Given the description of an element on the screen output the (x, y) to click on. 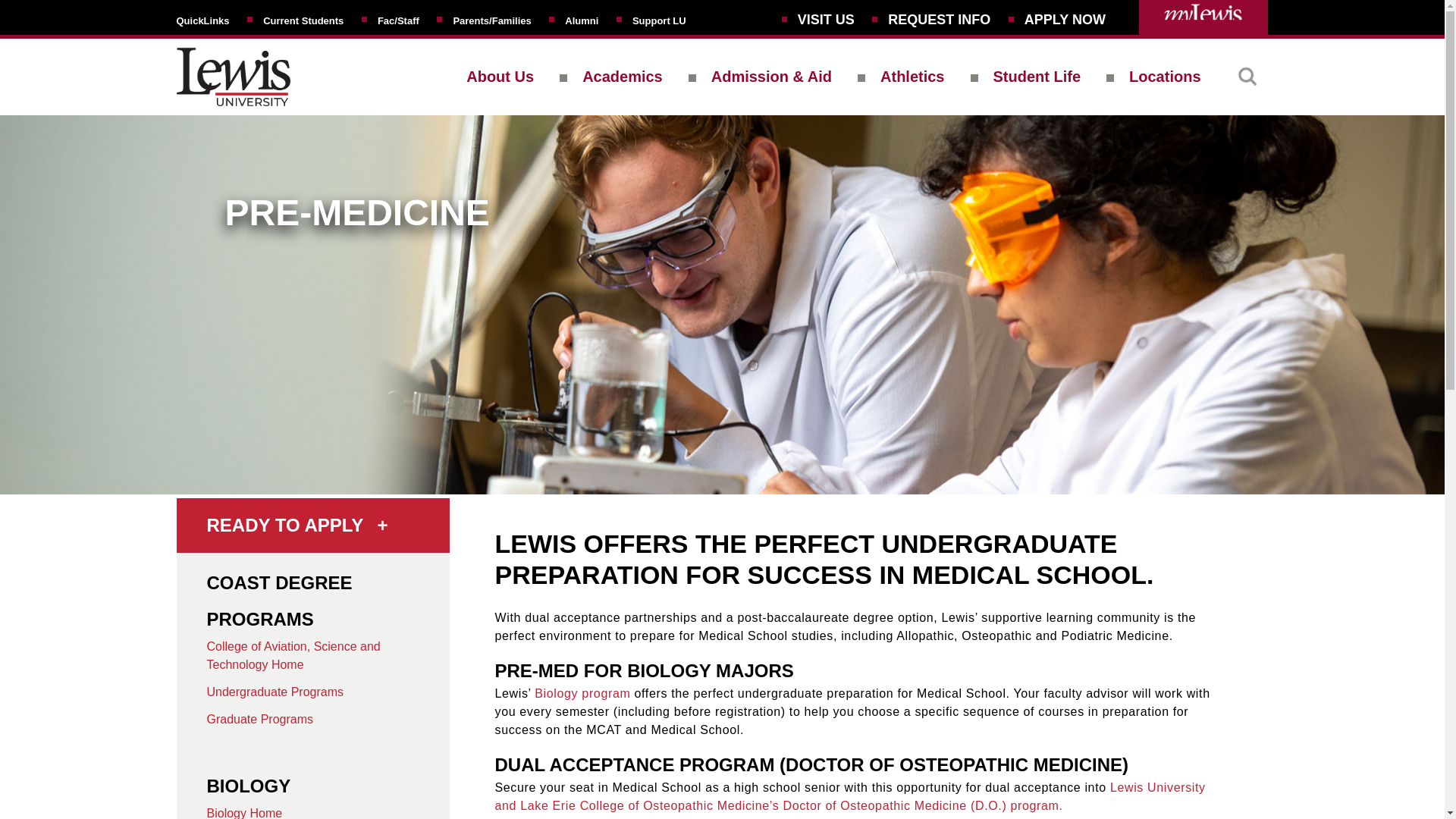
VISIT US (825, 19)
REQUEST INFO (939, 19)
APPLY NOW (1065, 19)
Support LU (658, 19)
Current Students (303, 19)
Alumni (581, 19)
QuickLinks (202, 19)
About Us (499, 76)
